Given the description of an element on the screen output the (x, y) to click on. 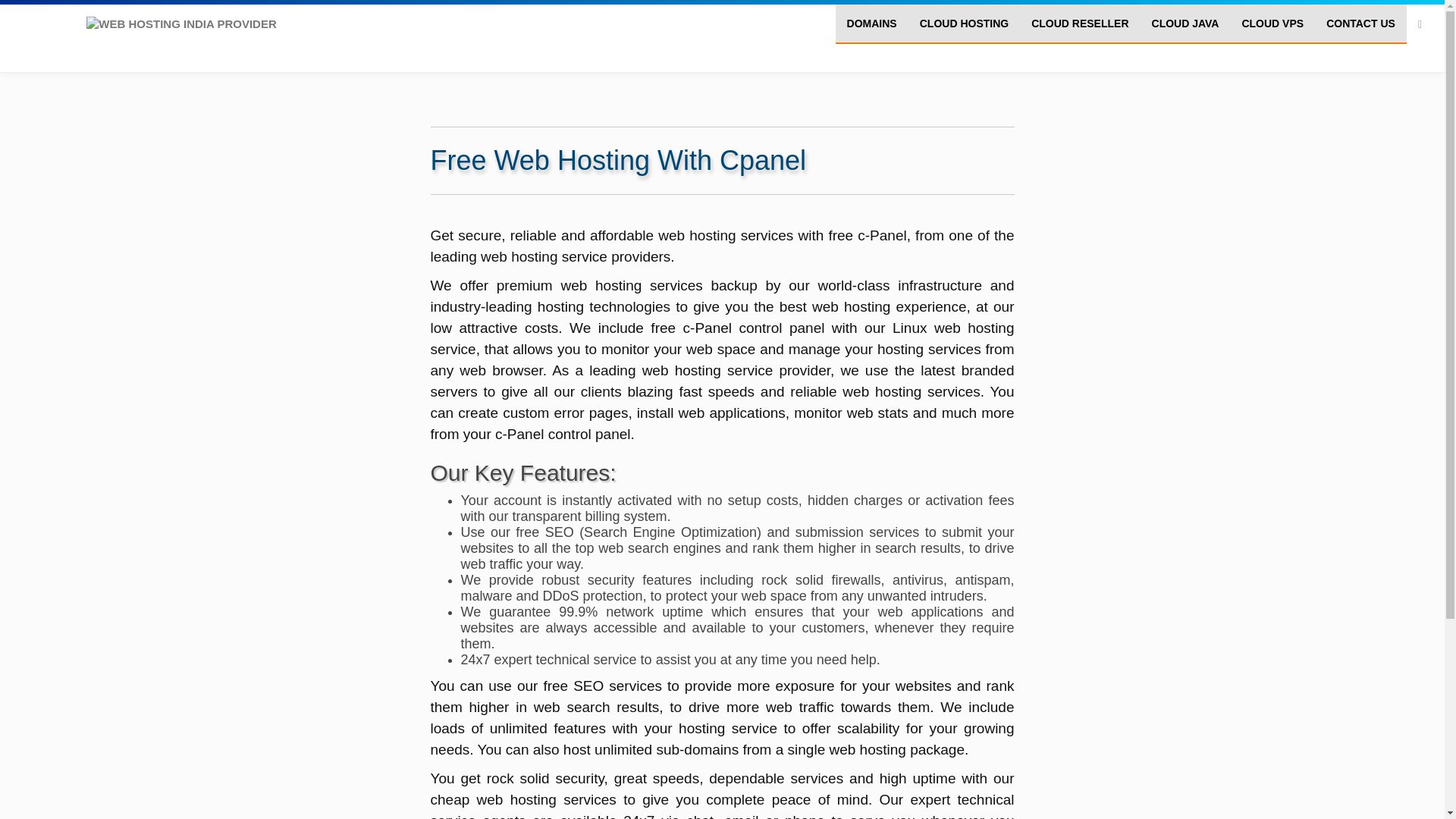
CONTACT US (1360, 24)
CLOUD HOSTING (964, 24)
CLOUD VPS (1272, 24)
CLOUD JAVA (1185, 24)
Web Hosting India Provider (180, 23)
DOMAINS (871, 24)
CLOUD RESELLER (1080, 24)
